Given the description of an element on the screen output the (x, y) to click on. 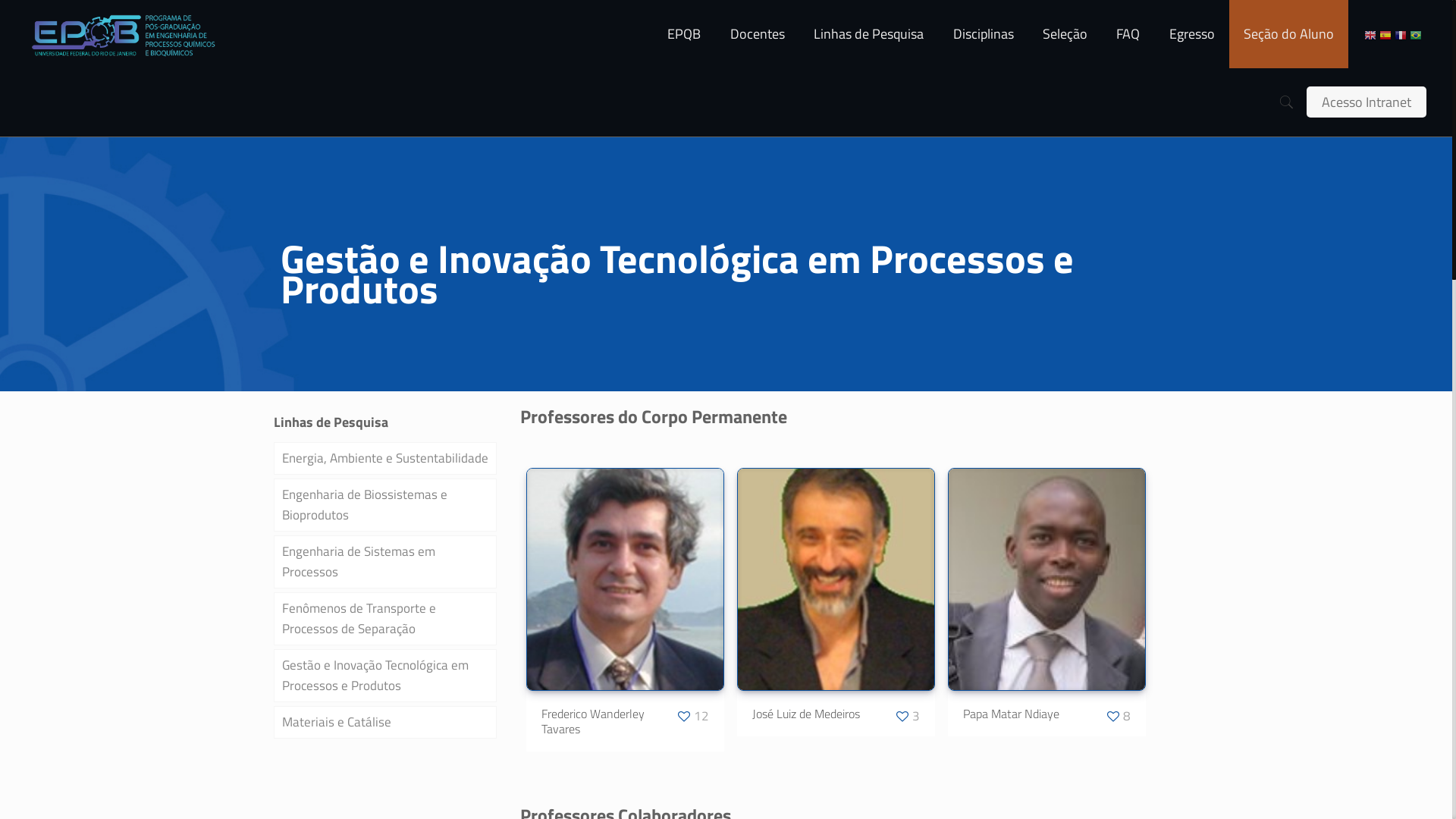
Docentes Element type: text (757, 34)
Egresso Element type: text (1191, 34)
Frederico Wanderley Tavares Element type: text (592, 720)
Acesso Intranet Element type: text (1366, 101)
8 Element type: text (1117, 716)
Frederico Wanderley Tavares Element type: text (625, 712)
Papa Matar Ndiaye Element type: text (1011, 713)
3 Element type: text (906, 716)
Linhas de Pesquisa Element type: text (868, 34)
FAQ Element type: text (1127, 34)
Disciplinas Element type: text (982, 34)
Energia, Ambiente e Sustentabilidade Element type: text (384, 458)
12 Element type: text (692, 716)
EPQB Element type: text (683, 34)
Spanish Element type: hover (1385, 34)
Engenharia de Sistemas em Processos Element type: text (384, 561)
EPQB / EQ / UFRJ Element type: hover (123, 34)
French Element type: hover (1400, 34)
Papa Matar Ndiaye Element type: text (1046, 712)
English Element type: hover (1370, 34)
Engenharia de Biossistemas e Bioprodutos Element type: text (384, 504)
Portuguese Element type: hover (1415, 34)
